Given the description of an element on the screen output the (x, y) to click on. 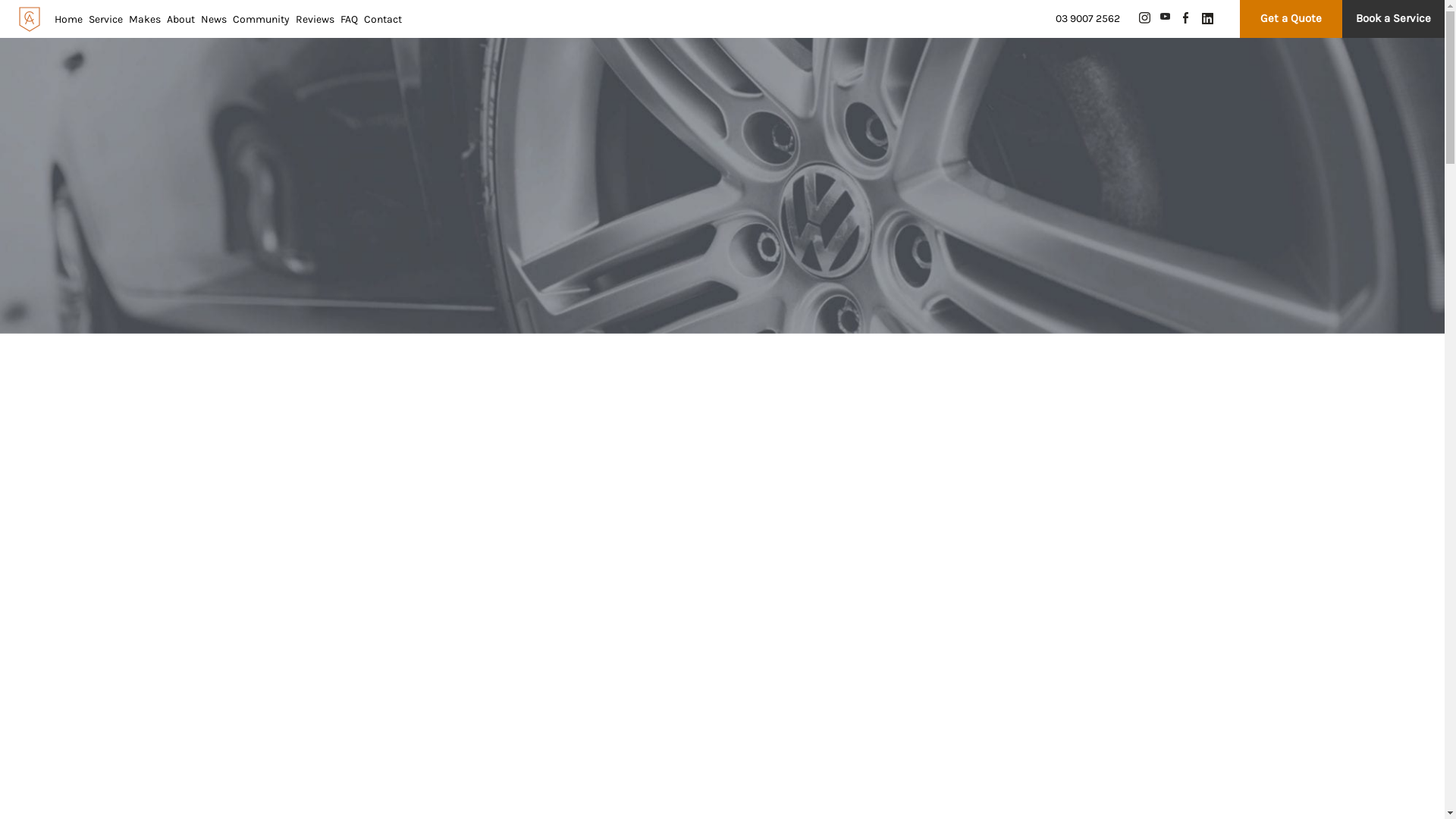
News Element type: text (213, 18)
Service Element type: text (105, 18)
Reviews Element type: text (314, 18)
Contact Element type: text (382, 18)
03 9007 2562 Element type: text (1087, 18)
Get a Quote Element type: text (1290, 18)
FAQ Element type: text (348, 18)
Book a Service Element type: text (1393, 18)
About Element type: text (180, 18)
Home Element type: text (68, 18)
Makes Element type: text (144, 18)
Community Element type: text (260, 18)
